Given the description of an element on the screen output the (x, y) to click on. 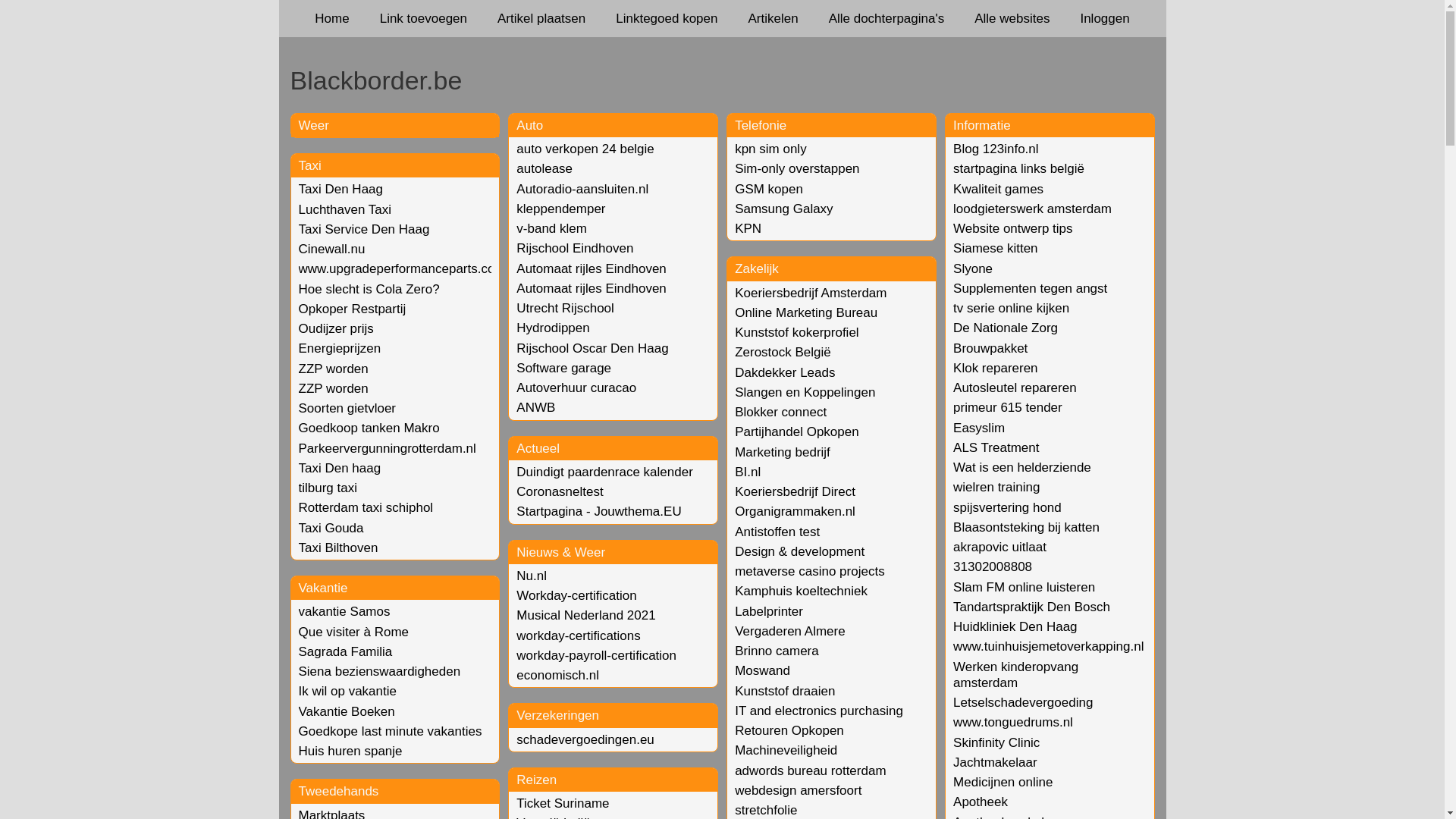
Oudijzer prijs Element type: text (335, 328)
auto verkopen 24 belgie Element type: text (584, 148)
Antistoffen test Element type: text (776, 531)
Blackborder.be Element type: text (721, 80)
Hoe slecht is Cola Zero? Element type: text (368, 289)
Supplementen tegen angst Element type: text (1030, 288)
kpn sim only Element type: text (770, 148)
Vakantie Boeken Element type: text (346, 711)
Vakantie Element type: text (323, 587)
Rijschool Eindhoven Element type: text (574, 248)
workday-certifications Element type: text (578, 635)
primeur 615 tender Element type: text (1007, 407)
Autosleutel repareren Element type: text (1014, 387)
31302008808 Element type: text (992, 566)
Blaasontsteking bij katten Element type: text (1026, 527)
adwords bureau rotterdam Element type: text (809, 770)
Automaat rijles Eindhoven Element type: text (591, 288)
Startpagina - Jouwthema.EU Element type: text (598, 511)
akrapovic uitlaat Element type: text (999, 546)
Kunststof kokerprofiel Element type: text (796, 332)
IT and electronics purchasing Element type: text (818, 710)
ZZP worden Element type: text (333, 368)
kleppendemper Element type: text (560, 208)
Klok repareren Element type: text (995, 367)
Moswand Element type: text (762, 670)
Taxi Den Haag Element type: text (340, 189)
Slyone Element type: text (972, 268)
Taxi Den haag Element type: text (339, 468)
Siamese kitten Element type: text (995, 248)
Software garage Element type: text (563, 367)
Link toevoegen Element type: text (423, 18)
Brinno camera Element type: text (776, 650)
De Nationale Zorg Element type: text (1005, 327)
Artikel plaatsen Element type: text (541, 18)
Zakelijk Element type: text (756, 268)
webdesign amersfoort Element type: text (797, 790)
Marketing bedrijf Element type: text (782, 452)
Luchthaven Taxi Element type: text (345, 209)
Kunststof draaien Element type: text (784, 691)
Skinfinity Clinic Element type: text (996, 742)
Apotheek Element type: text (980, 801)
spijsvertering hond Element type: text (1007, 507)
www.upgradeperformanceparts.com Element type: text (401, 268)
Musical Nederland 2021 Element type: text (585, 615)
Taxi Bilthoven Element type: text (338, 547)
Home Element type: text (331, 18)
Werken kinderopvang amsterdam Element type: text (1015, 674)
Parkeervergunningrotterdam.nl Element type: text (387, 448)
Reizen Element type: text (536, 779)
Informatie Element type: text (981, 125)
Taxi Gouda Element type: text (331, 527)
workday-payroll-certification Element type: text (596, 655)
Taxi Service Den Haag Element type: text (363, 229)
Alle dochterpagina's Element type: text (886, 18)
Rijschool Oscar Den Haag Element type: text (592, 348)
Weer Element type: text (313, 125)
Linktegoed kopen Element type: text (666, 18)
Online Marketing Bureau Element type: text (805, 312)
stretchfolie Element type: text (765, 810)
tv serie online kijken Element type: text (1011, 308)
Easyslim Element type: text (978, 427)
Auto Element type: text (529, 125)
Huis huren spanje Element type: text (350, 750)
Medicijnen online Element type: text (1002, 782)
Organigrammaken.nl Element type: text (794, 511)
tilburg taxi Element type: text (327, 487)
Tandartspraktijk Den Bosch Element type: text (1031, 606)
Blokker connect Element type: text (780, 411)
ALS Treatment Element type: text (995, 447)
Slam FM online luisteren Element type: text (1024, 587)
Artikelen Element type: text (772, 18)
loodgieterswerk amsterdam Element type: text (1032, 208)
Kamphuis koeltechniek Element type: text (800, 590)
Machineveiligheid Element type: text (785, 750)
Website ontwerp tips Element type: text (1012, 228)
Kwaliteit games Element type: text (998, 189)
Rotterdam taxi schiphol Element type: text (365, 507)
Partijhandel Opkopen Element type: text (796, 431)
BI.nl Element type: text (747, 471)
Jachtmakelaar Element type: text (995, 762)
Autoverhuur curacao Element type: text (576, 387)
Tweedehands Element type: text (338, 791)
autolease Element type: text (544, 168)
Vergaderen Almere Element type: text (789, 631)
Blog 123info.nl Element type: text (995, 148)
www.tuinhuisjemetoverkapping.nl Element type: text (1048, 646)
Brouwpakket Element type: text (990, 348)
Utrecht Rijschool Element type: text (565, 308)
ZZP worden Element type: text (333, 388)
Alle websites Element type: text (1011, 18)
Sim-only overstappen Element type: text (796, 168)
vakantie Samos Element type: text (344, 611)
Labelprinter Element type: text (768, 611)
Goedkoop tanken Makro Element type: text (368, 427)
Ticket Suriname Element type: text (562, 803)
Design & development Element type: text (799, 551)
wielren training Element type: text (996, 487)
metaverse casino projects Element type: text (809, 571)
Koeriersbedrijf Direct Element type: text (794, 491)
Inloggen Element type: text (1104, 18)
www.tonguedrums.nl Element type: text (1013, 722)
Opkoper Restpartij Element type: text (352, 308)
Nu.nl Element type: text (531, 575)
Duindigt paardenrace kalender Element type: text (604, 471)
Retouren Opkopen Element type: text (789, 730)
Taxi Element type: text (309, 165)
Koeriersbedrijf Amsterdam Element type: text (810, 292)
Coronasneltest Element type: text (559, 491)
Wat is een helderziende Element type: text (1022, 467)
Automaat rijles Eindhoven Element type: text (591, 268)
Energieprijzen Element type: text (339, 348)
Dakdekker Leads Element type: text (784, 372)
Hydrodippen Element type: text (552, 327)
economisch.nl Element type: text (557, 675)
Ik wil op vakantie Element type: text (347, 691)
Sagrada Familia Element type: text (345, 651)
GSM kopen Element type: text (768, 189)
Actueel Element type: text (537, 448)
Telefonie Element type: text (760, 125)
v-band klem Element type: text (551, 228)
Nieuws & Weer Element type: text (560, 552)
KPN Element type: text (747, 228)
Autoradio-aansluiten.nl Element type: text (582, 189)
Letselschadevergoeding Element type: text (1022, 702)
Slangen en Koppelingen Element type: text (804, 392)
Cinewall.nu Element type: text (331, 248)
Verzekeringen Element type: text (557, 715)
Huidkliniek Den Haag Element type: text (1014, 626)
schadevergoedingen.eu Element type: text (584, 739)
Goedkope last minute vakanties Element type: text (390, 731)
Soorten gietvloer Element type: text (347, 408)
ANWB Element type: text (535, 407)
Siena bezienswaardigheden Element type: text (379, 671)
Samsung Galaxy Element type: text (783, 208)
Workday-certification Element type: text (576, 595)
